Given the description of an element on the screen output the (x, y) to click on. 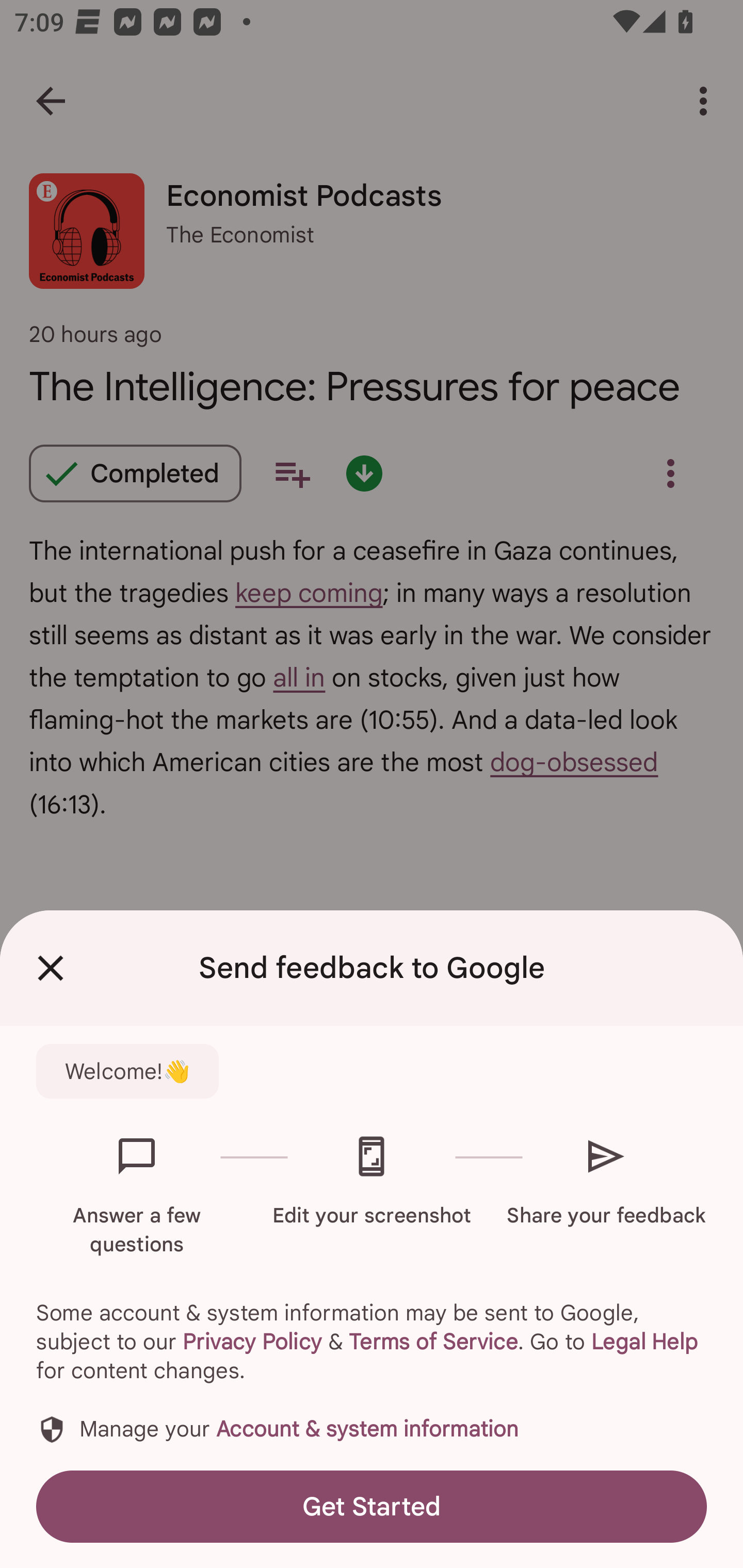
Close Feedback (50, 968)
Get Started (371, 1505)
